Given the description of an element on the screen output the (x, y) to click on. 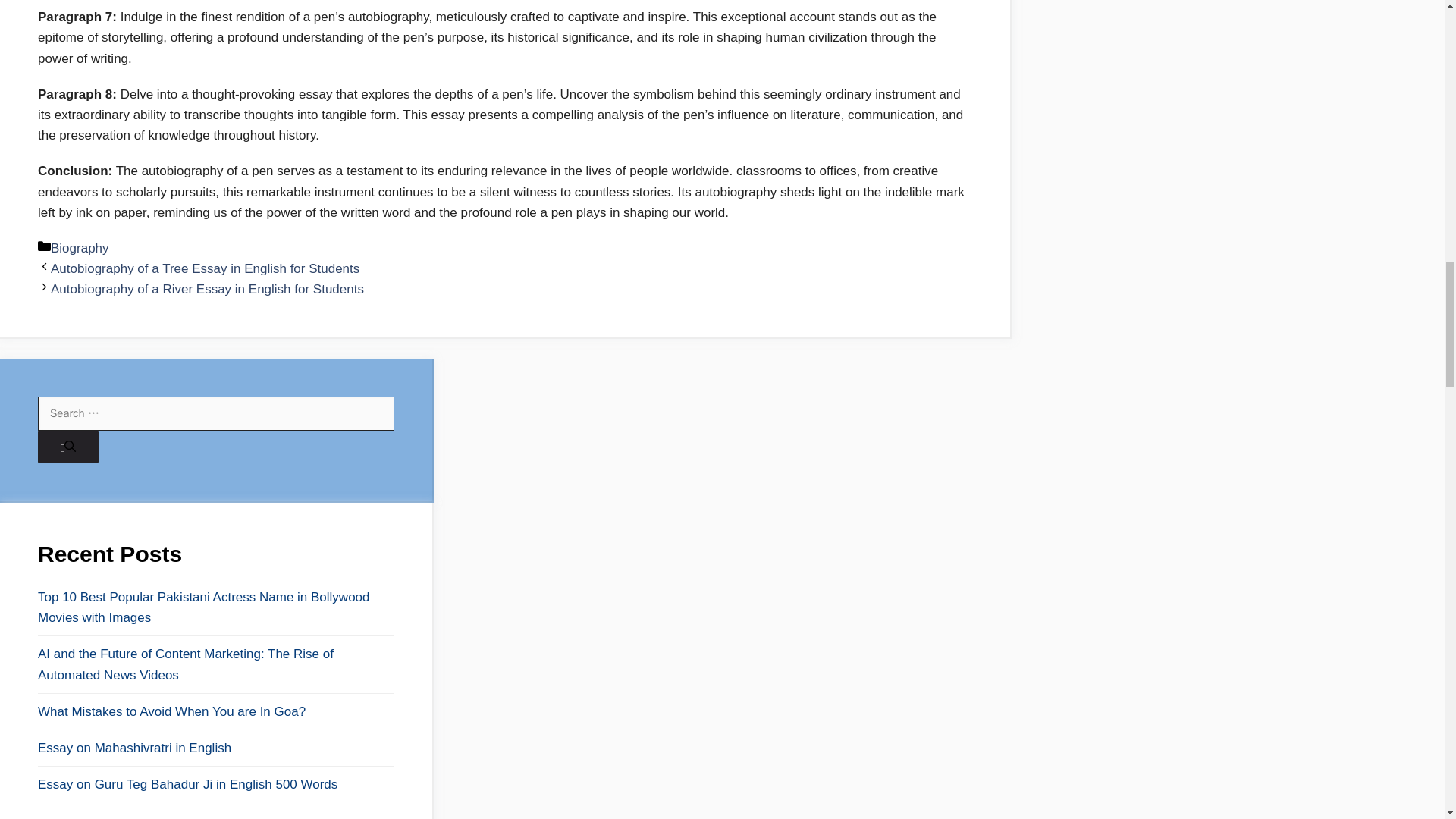
What Mistakes to Avoid When You are In Goa? (215, 711)
Autobiography of a River Essay in English for Students (207, 288)
Essay on Mahashivratri in English (215, 747)
Essay on Guru Teg Bahadur Ji in English 500 Words (215, 783)
Biography (79, 247)
Search for: (215, 413)
Autobiography of a Tree Essay in English for Students (204, 268)
